Given the description of an element on the screen output the (x, y) to click on. 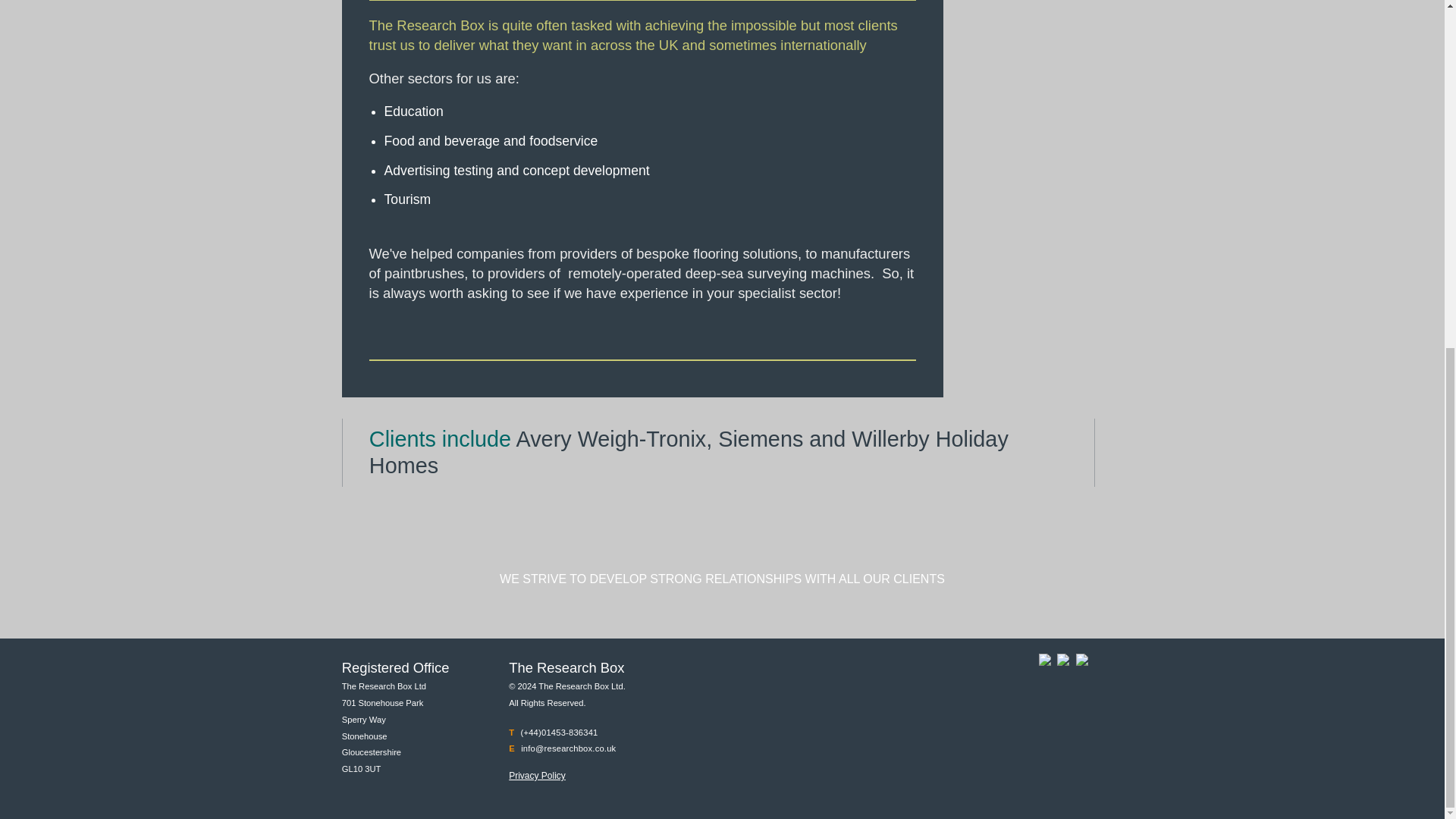
Privacy Policy (537, 775)
AQR Member (1045, 662)
LinkedIn (1081, 662)
MRS Member (1062, 662)
Privacy Policy (537, 775)
